Given the description of an element on the screen output the (x, y) to click on. 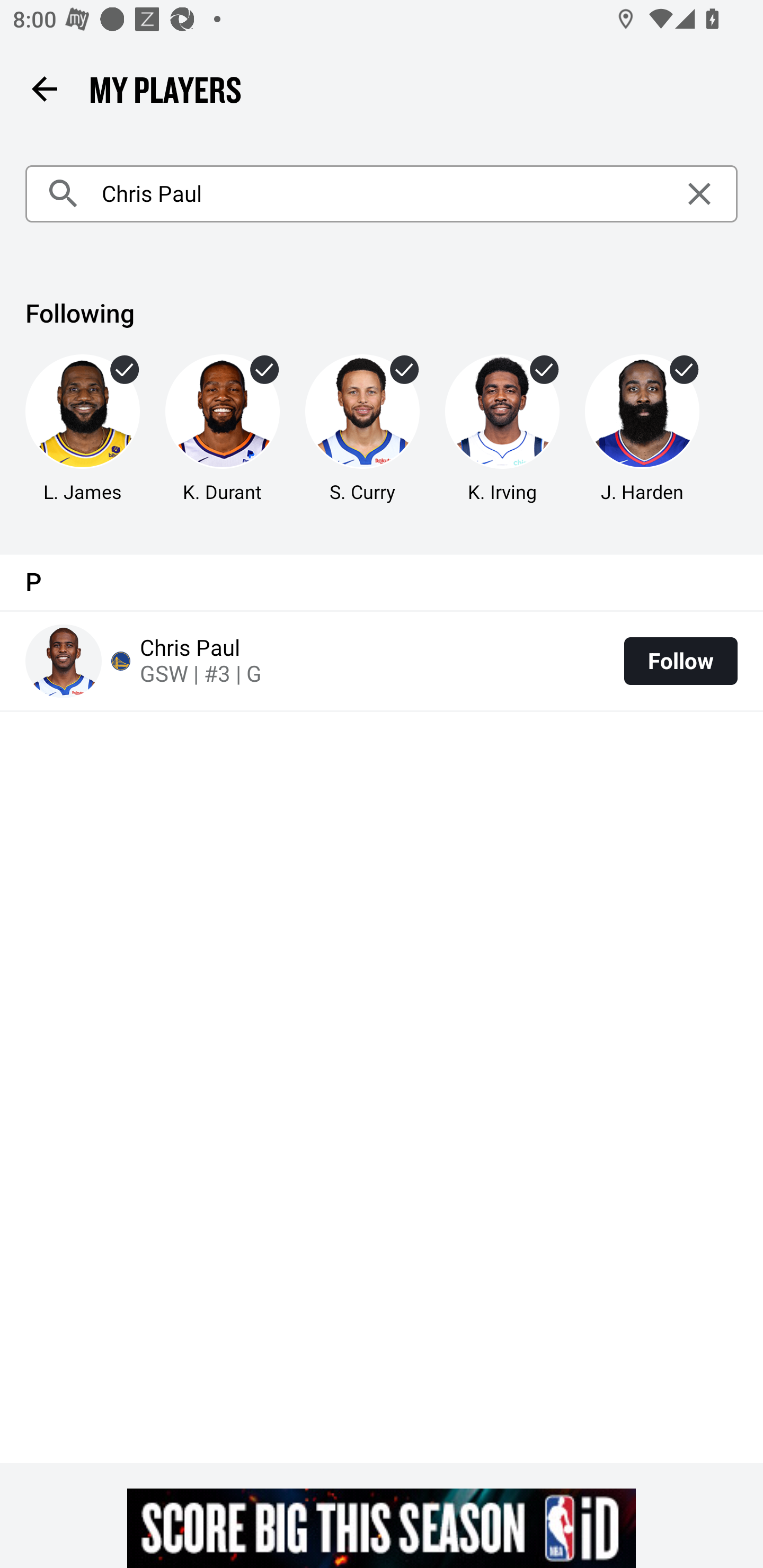
Back button (44, 88)
Chris Paul (381, 193)
Follow (680, 660)
g5nqqygr7owph (381, 1528)
